Given the description of an element on the screen output the (x, y) to click on. 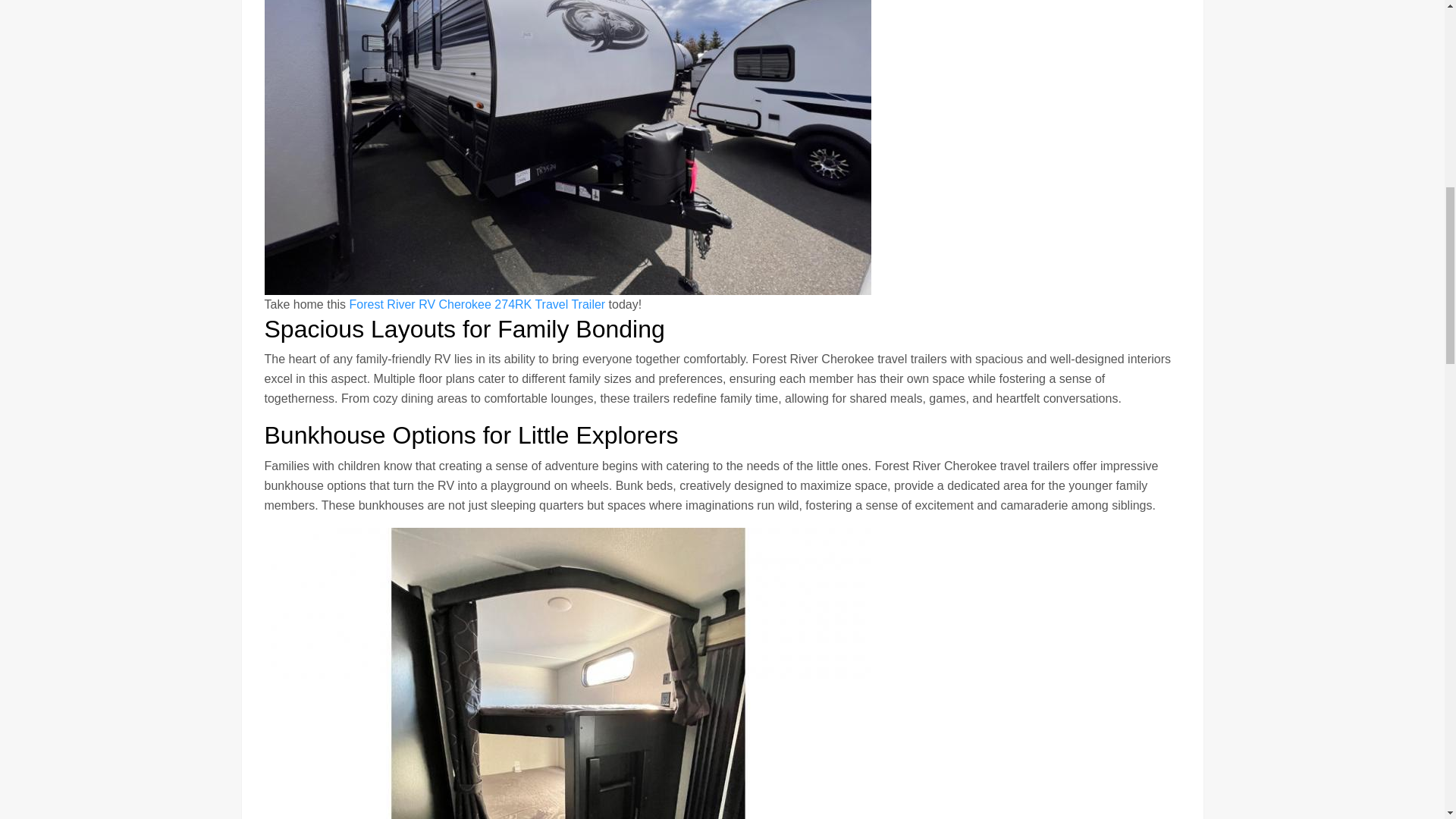
Forest River RV Cherokee 274RK Travel Trailer (475, 304)
